Given the description of an element on the screen output the (x, y) to click on. 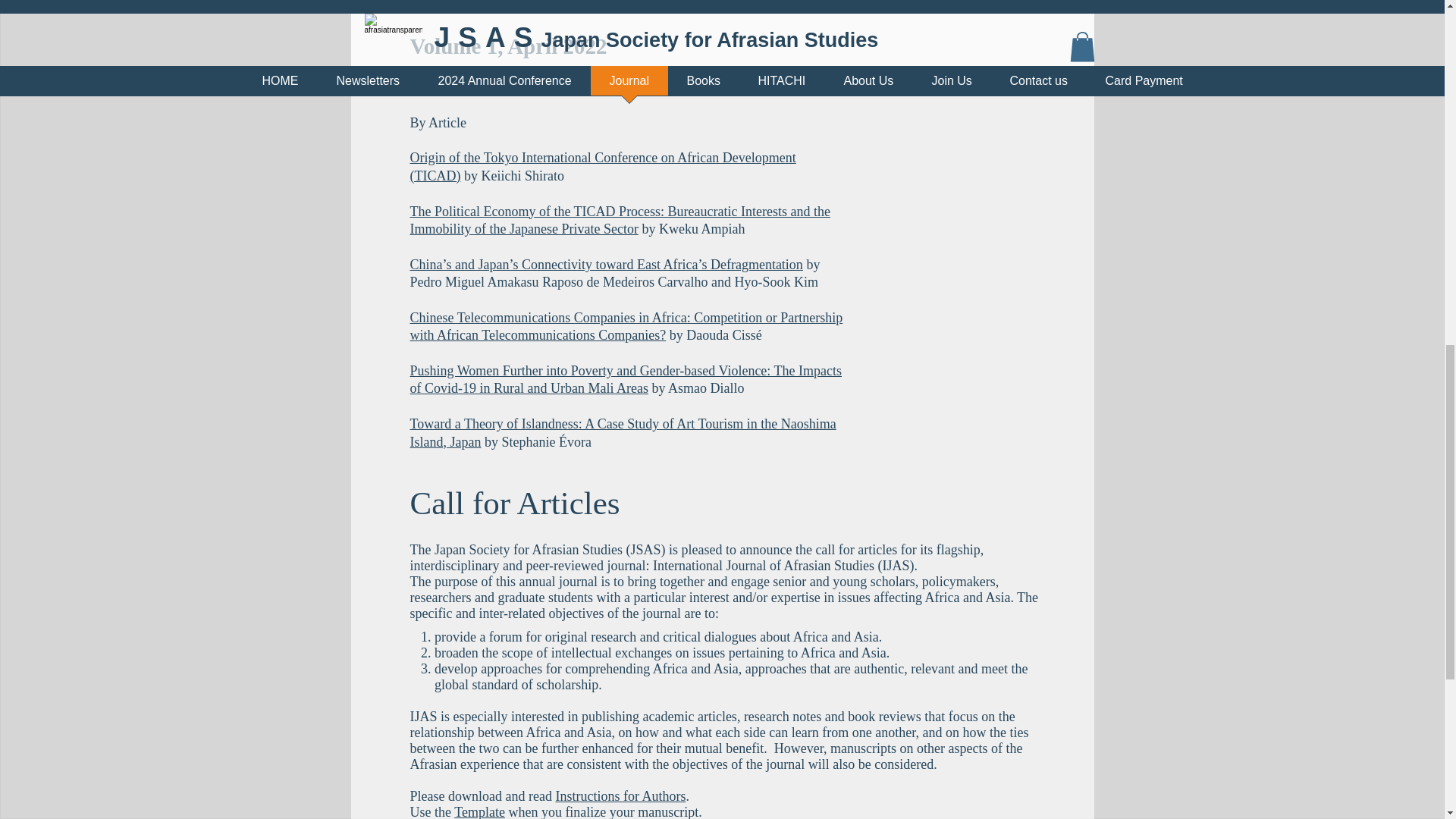
Instructions for Authors (619, 795)
Template (479, 811)
All Text (431, 87)
